Given the description of an element on the screen output the (x, y) to click on. 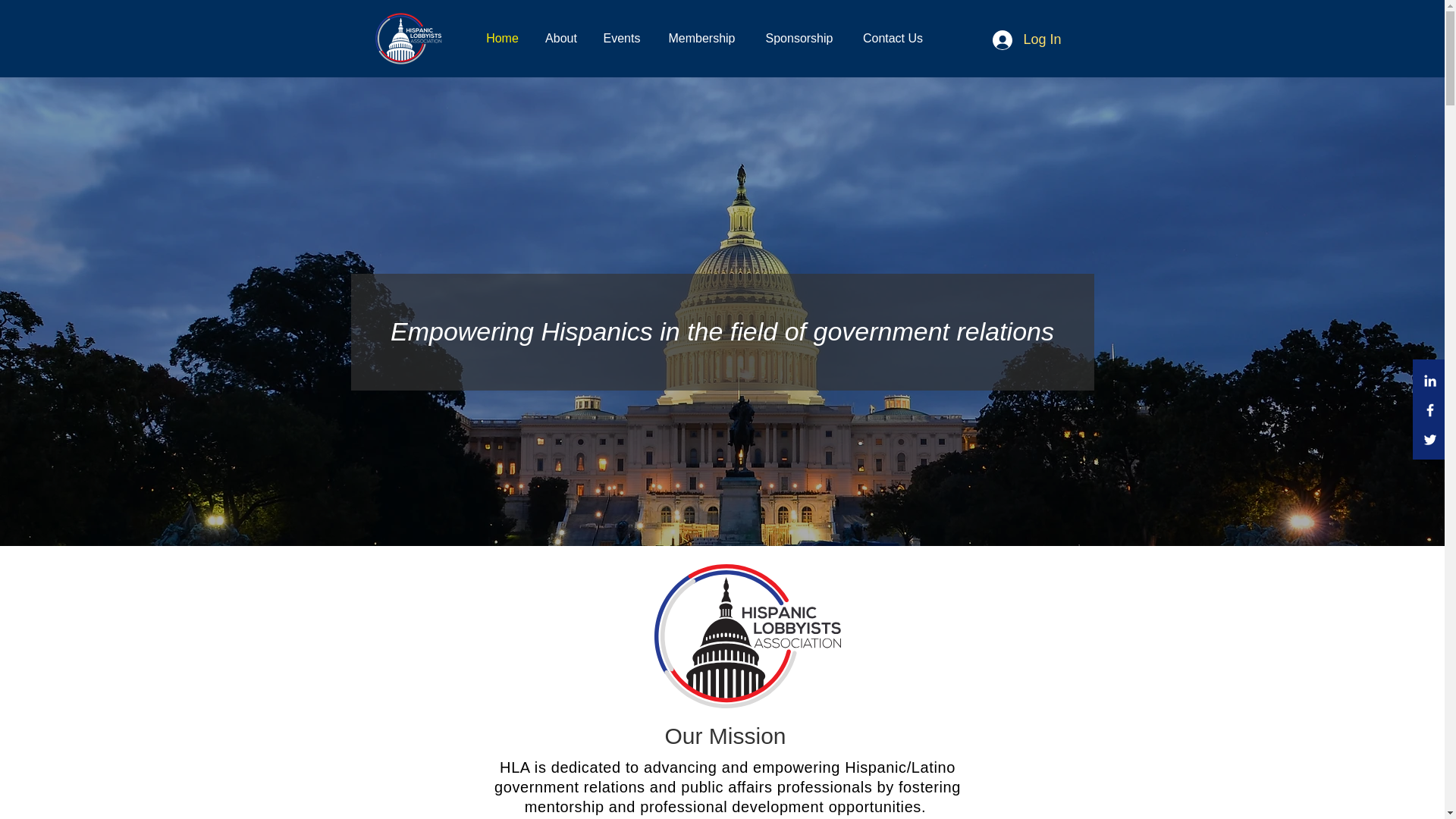
Sponsorship (799, 38)
Home (502, 38)
Membership (701, 38)
Contact Us (892, 38)
Events (621, 38)
Log In (1026, 39)
About (561, 38)
